Given the description of an element on the screen output the (x, y) to click on. 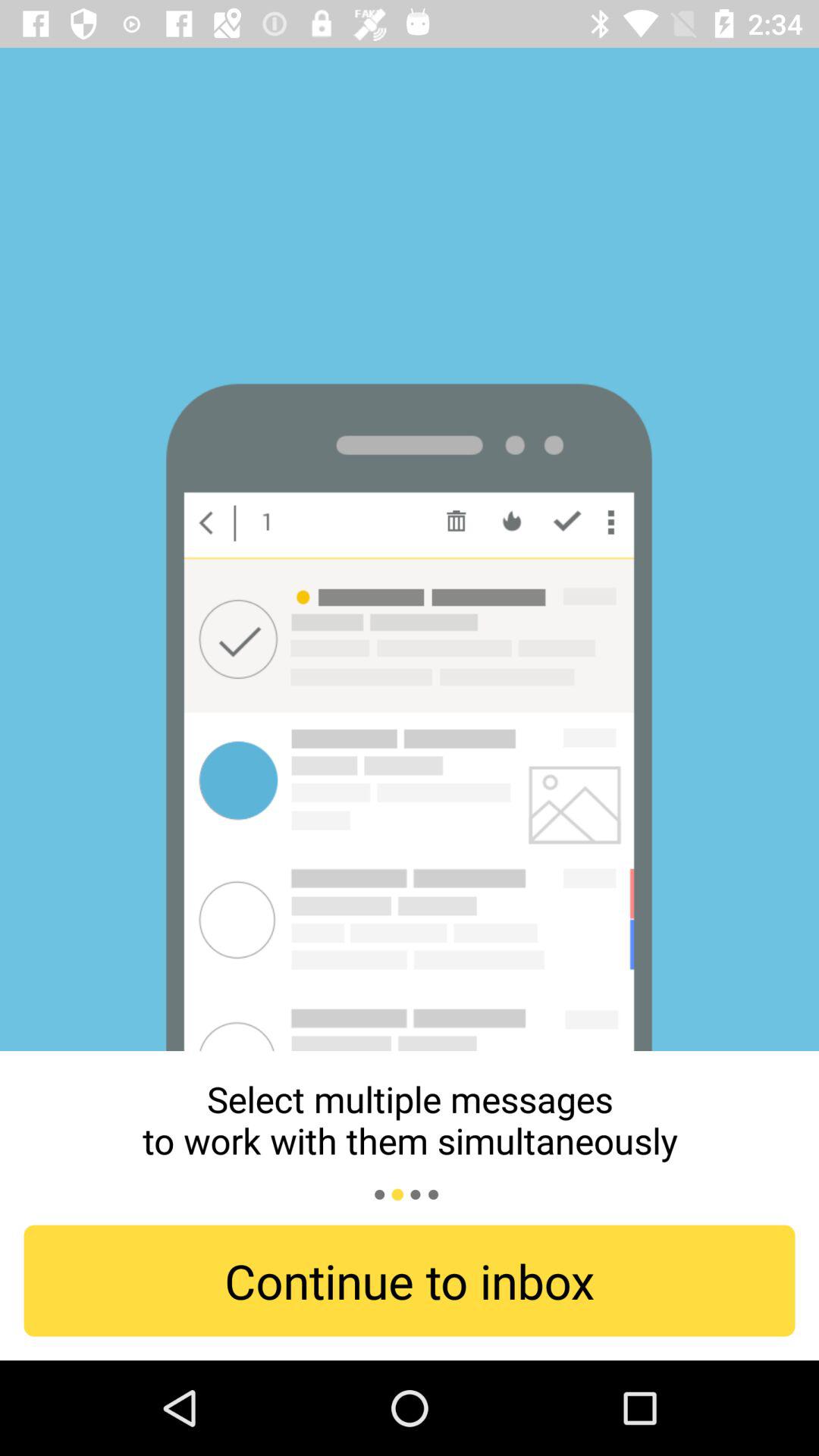
flip until the continue to inbox item (409, 1280)
